Given the description of an element on the screen output the (x, y) to click on. 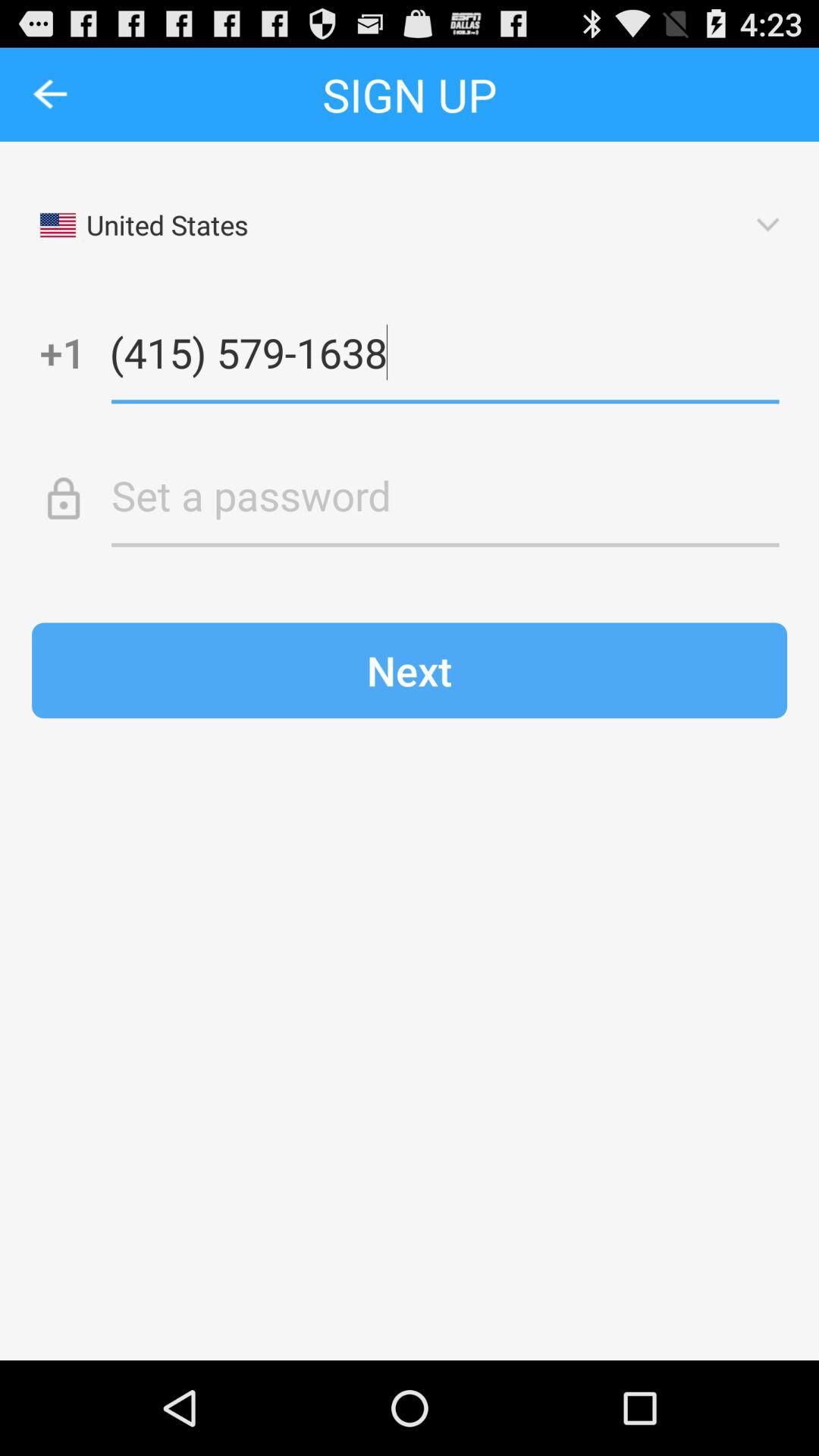
set a password (445, 495)
